Given the description of an element on the screen output the (x, y) to click on. 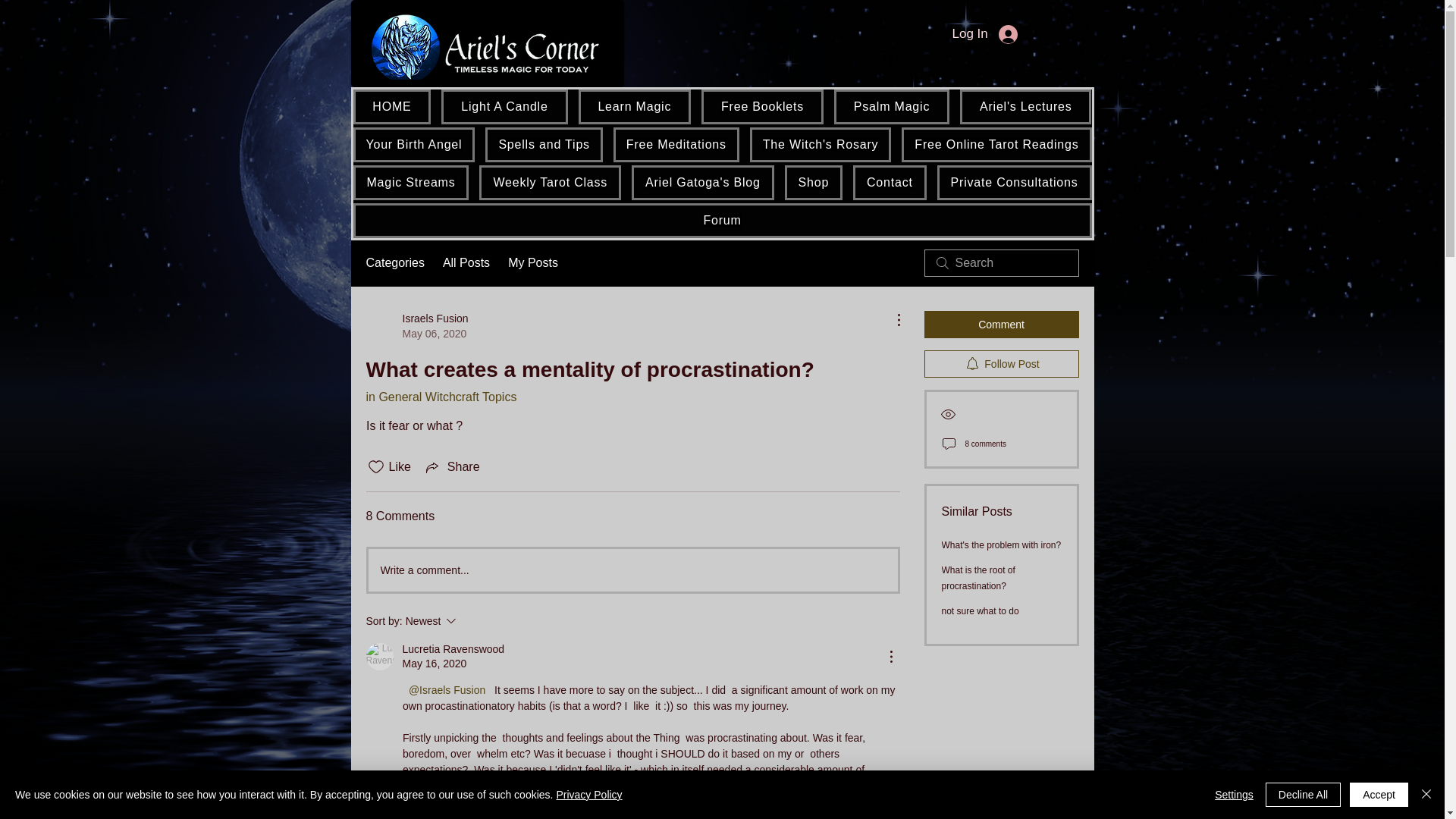
Log In (984, 33)
Free Online Tarot Readings (995, 144)
Magic Streams (410, 182)
Ariel Gatoga's Blog (702, 182)
Your Birth Angel (414, 144)
Contact (889, 182)
Free Booklets (762, 106)
Shop (813, 182)
The Witch's Rosary (820, 144)
Light A Candle (504, 106)
